Given the description of an element on the screen output the (x, y) to click on. 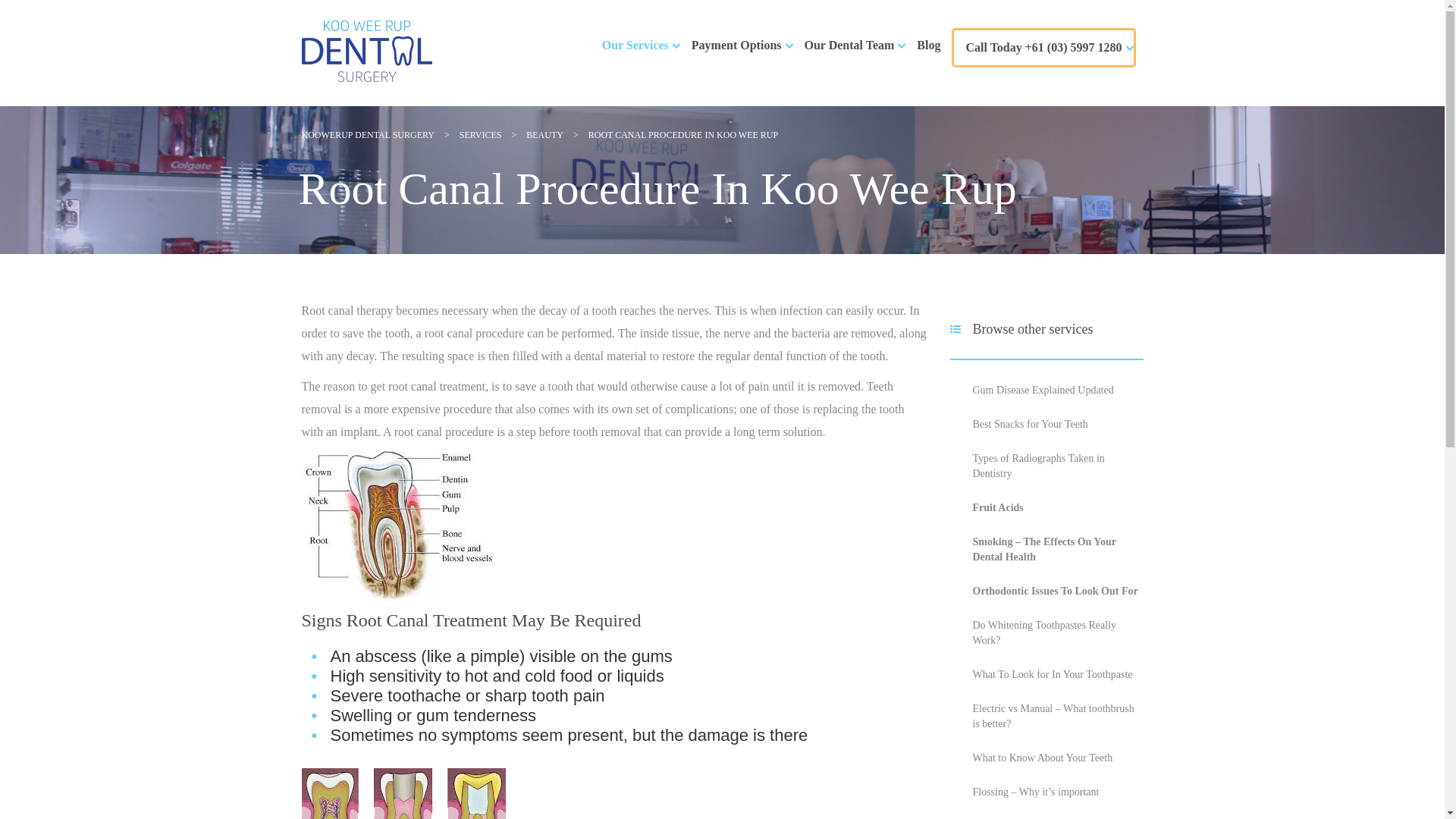
Best Snacks for Your Teeth Element type: text (1029, 423)
SERVICES Element type: text (480, 134)
Blog Element type: text (928, 45)
Payment Options Element type: text (736, 45)
Do Whitening Toothpastes Really Work? Element type: text (1043, 632)
KOOWERUP DENTAL SURGERY Element type: text (367, 134)
Our Services Element type: text (635, 45)
Call Today +61 (03) 5997 1280 Element type: text (1043, 47)
BEAUTY Element type: text (544, 134)
What to Know About Your Teeth Element type: text (1042, 757)
What To Look for In Your Toothpaste Element type: text (1052, 674)
Orthodontic Issues To Look Out For Element type: text (1054, 590)
Our Dental Team Element type: text (849, 45)
Types of Radiographs Taken in Dentistry Element type: text (1038, 465)
Fruit Acids Element type: text (997, 507)
Gum Disease Explained Updated Element type: text (1042, 389)
